Given the description of an element on the screen output the (x, y) to click on. 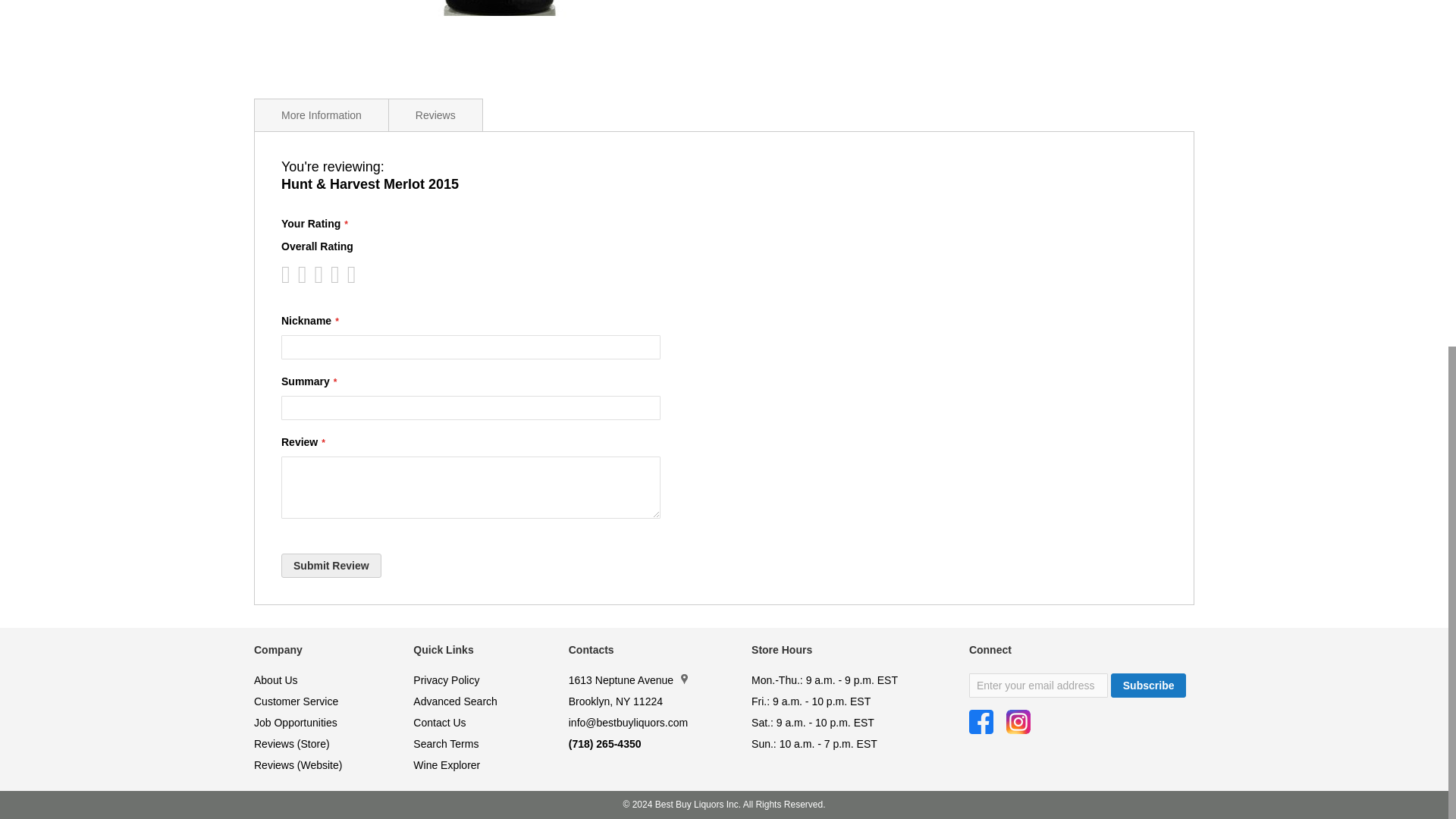
4 stars (314, 274)
2 stars (297, 274)
5 stars (321, 274)
Best Buy Liquors on Facebook (980, 721)
Subscribe (1148, 685)
3 stars (305, 274)
